Given the description of an element on the screen output the (x, y) to click on. 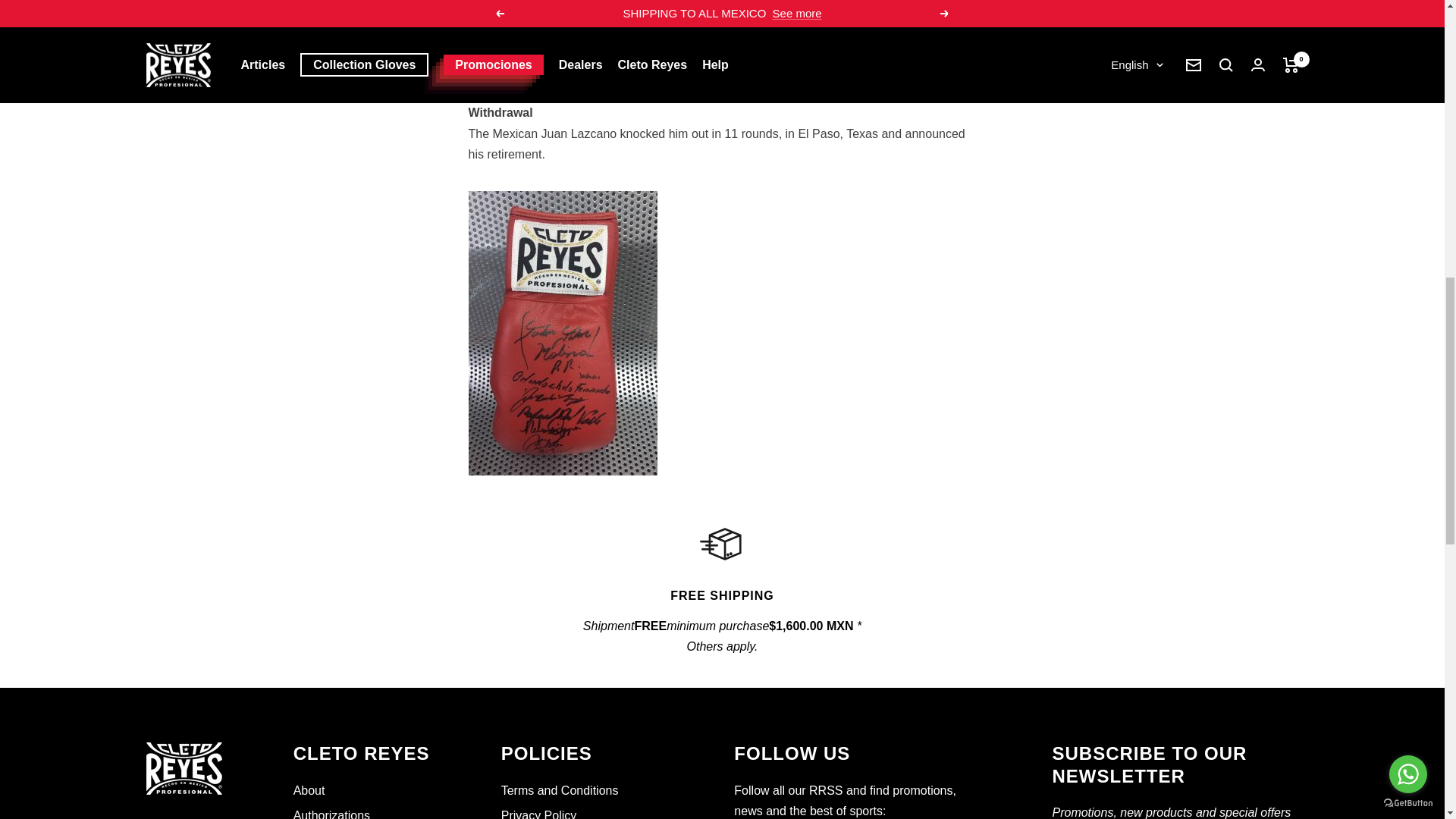
Privacy Policy (538, 812)
Authorizations (331, 812)
About (309, 790)
Terms and Conditions (559, 790)
